Given the description of an element on the screen output the (x, y) to click on. 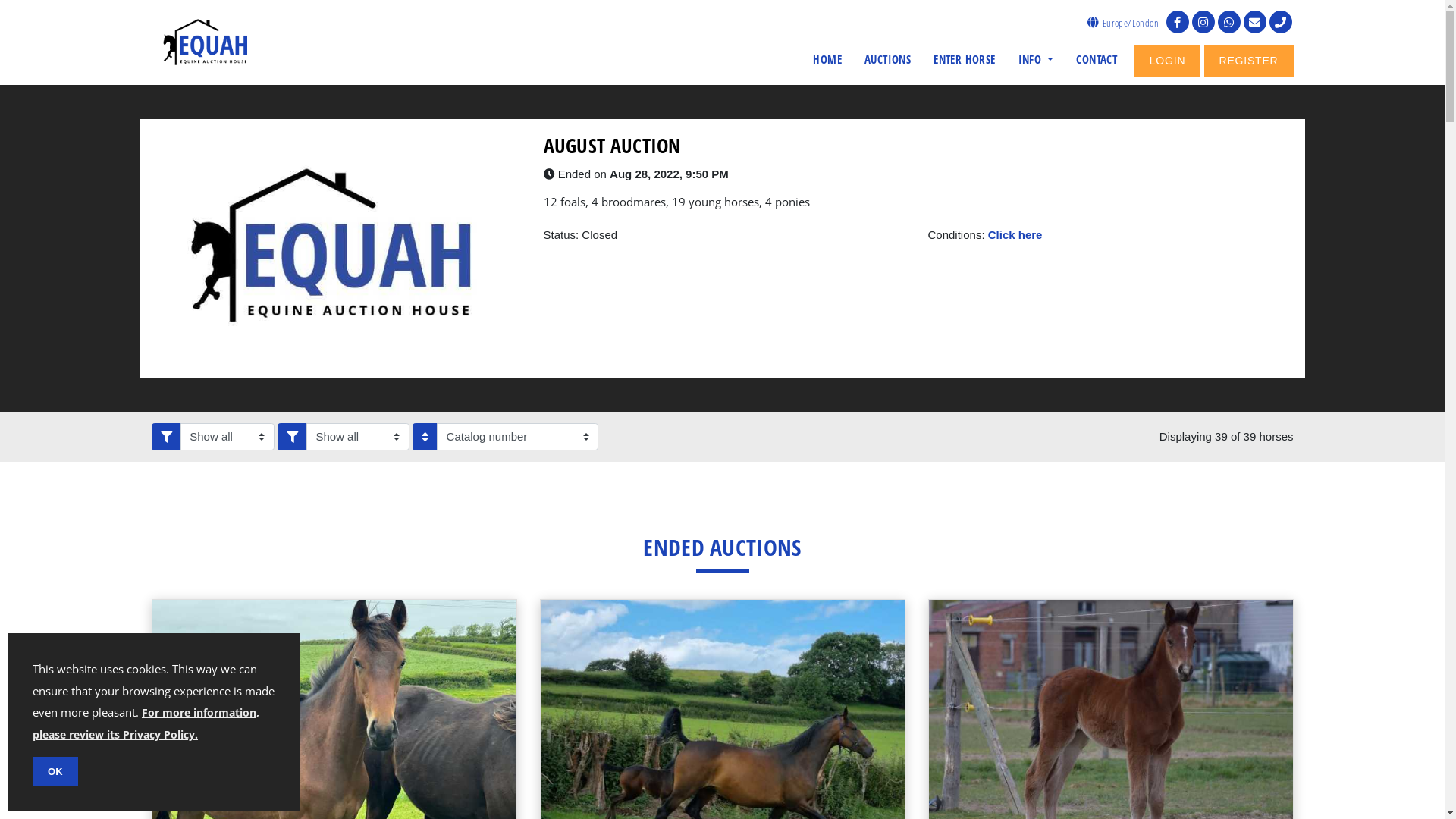
AUCTIONS Element type: text (887, 58)
Click here Element type: text (1015, 233)
CONTACT Element type: text (1096, 58)
REGISTER Element type: text (1248, 60)
ENTER HORSE Element type: text (964, 58)
Europe/London Element type: text (1122, 22)
INFO Element type: text (1035, 58)
HOME Element type: text (827, 58)
For more information, please review its Privacy Policy. Element type: text (145, 723)
LOGIN Element type: text (1167, 60)
OK Element type: text (55, 771)
